Given the description of an element on the screen output the (x, y) to click on. 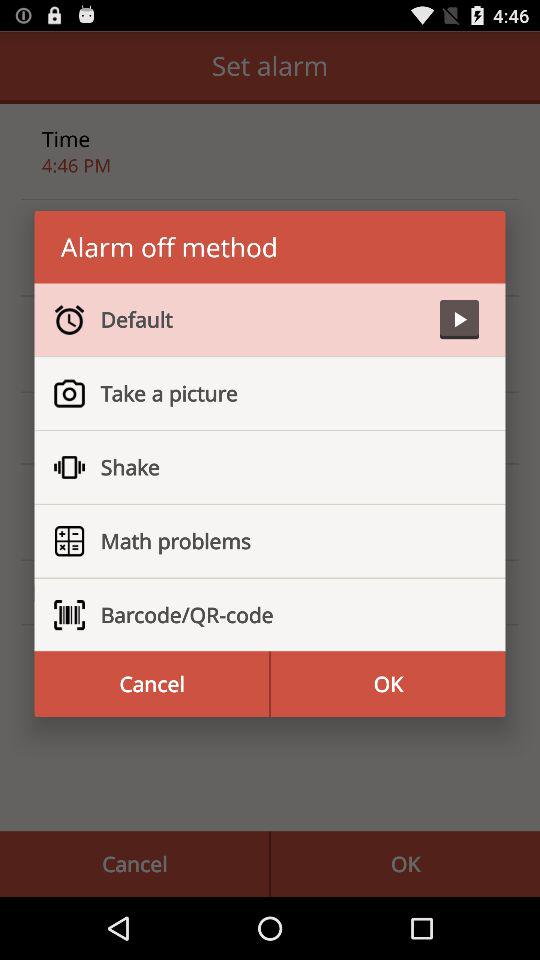
select the barcode/qr-code (281, 615)
